Given the description of an element on the screen output the (x, y) to click on. 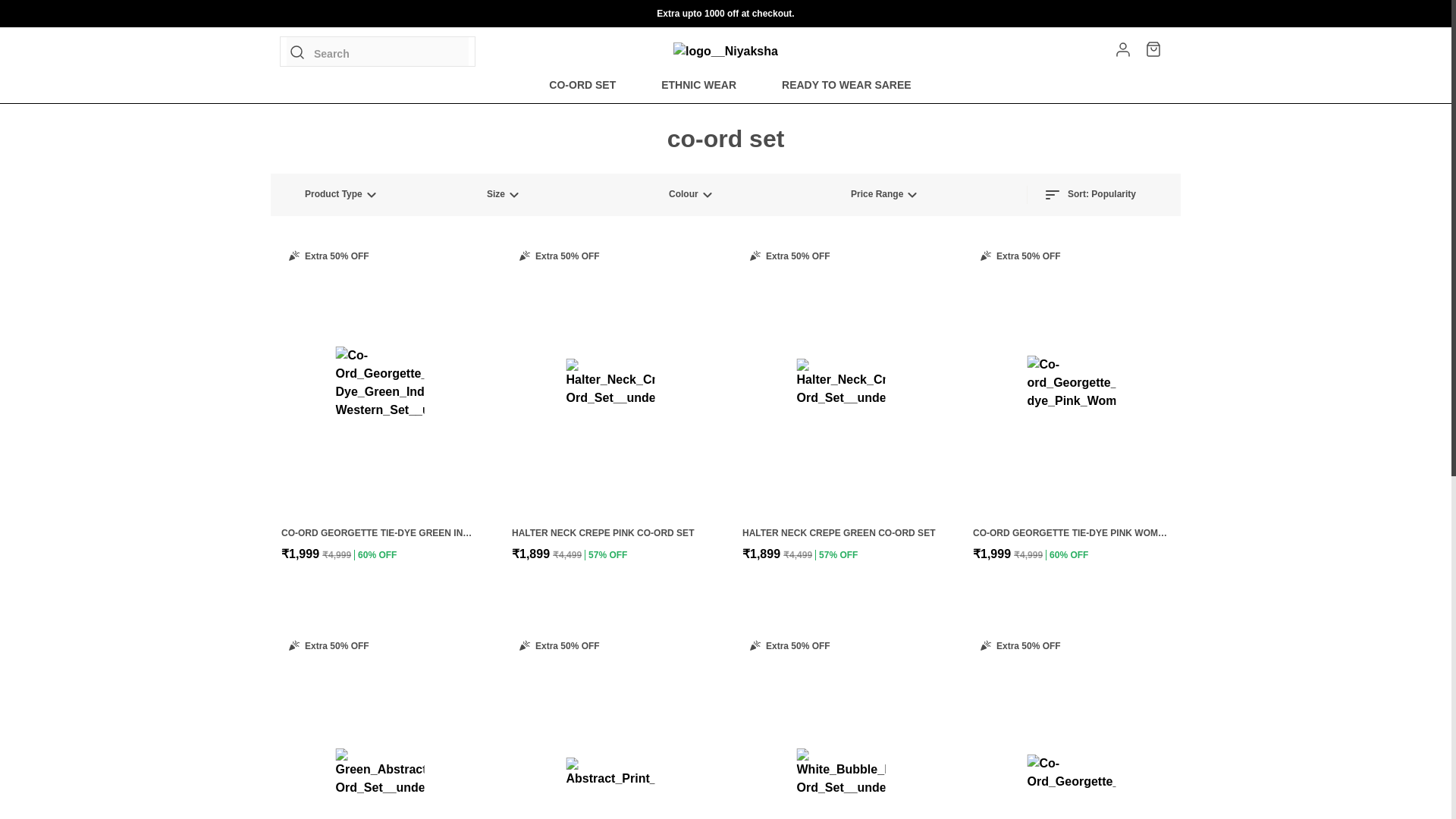
CO-ORD SET (581, 84)
Search (377, 51)
Sort: Popularity (1089, 194)
ETHNIC WEAR (698, 84)
READY TO WEAR SAREE (846, 84)
